Given the description of an element on the screen output the (x, y) to click on. 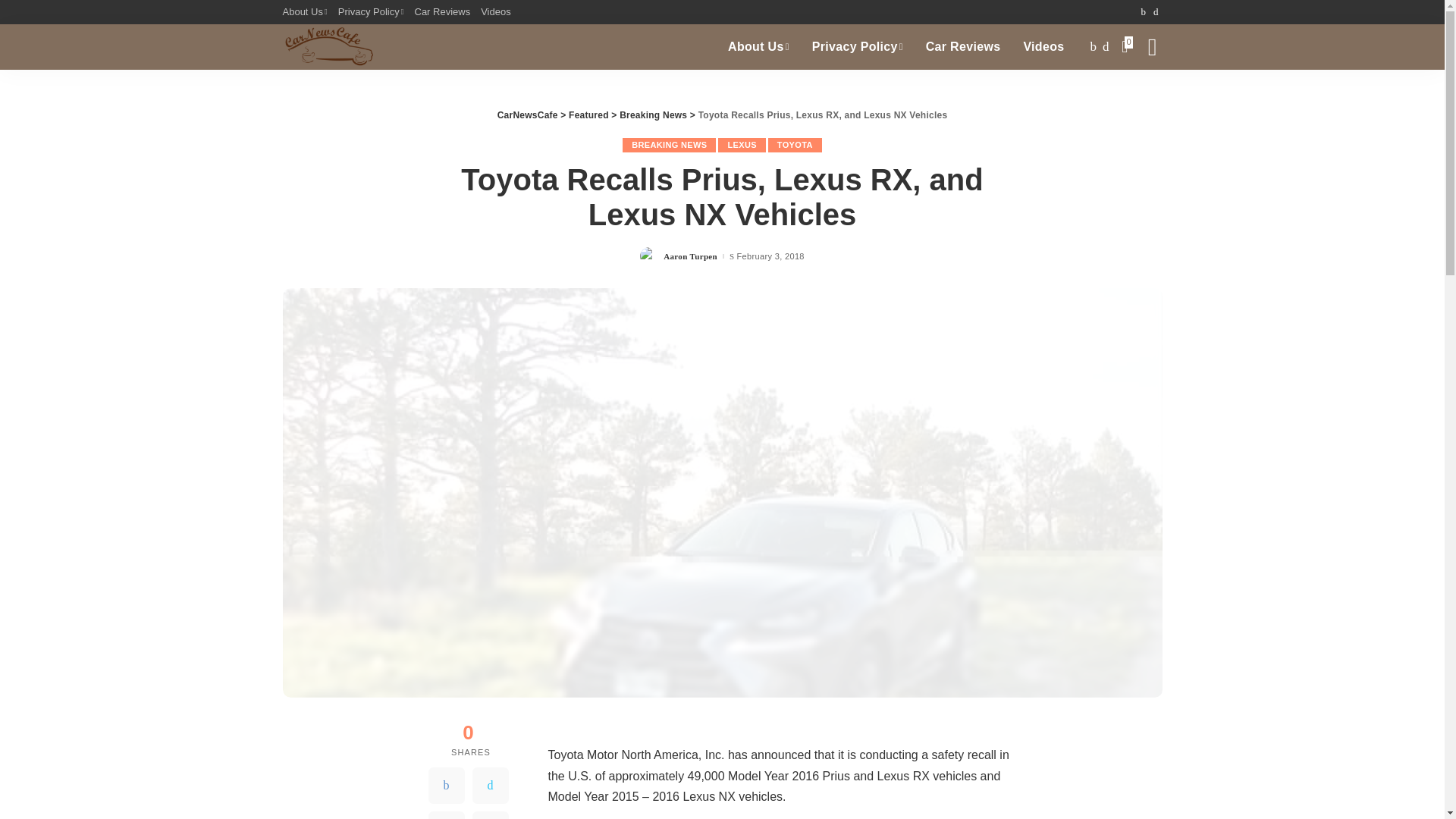
About Us (758, 46)
CarNewsCafe (328, 46)
Videos (1043, 46)
Email (489, 815)
Privacy Policy (857, 46)
About Us (306, 12)
Go to CarNewsCafe. (527, 114)
Car Reviews (442, 12)
2018-02-03T22:07:42-05:00 (770, 256)
Privacy Policy (371, 12)
Search (1140, 97)
Videos (496, 12)
Facebook (446, 785)
Go to the Featured Category archives. (588, 114)
Go to the Breaking News Category archives. (653, 114)
